Given the description of an element on the screen output the (x, y) to click on. 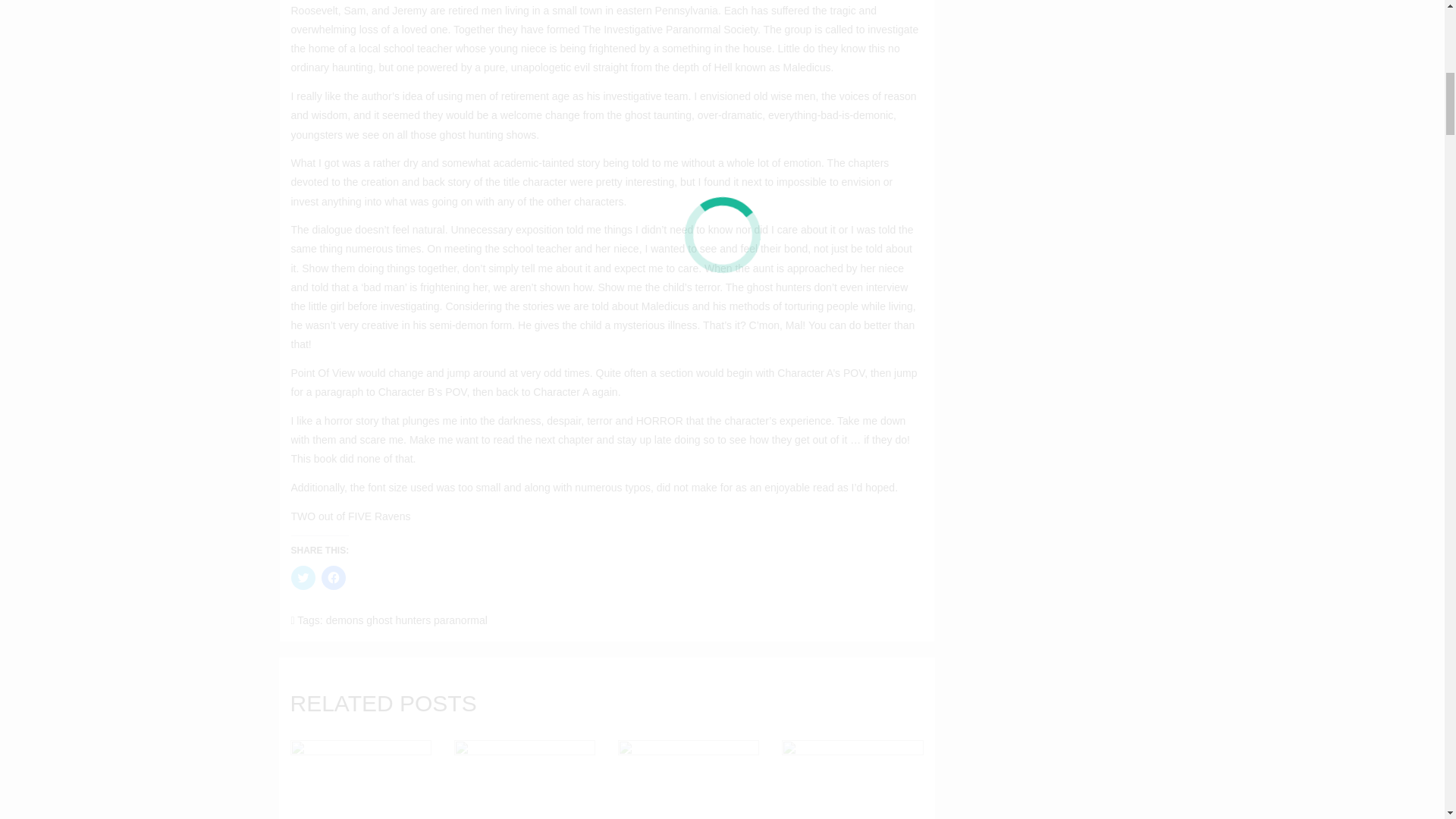
ghost hunters (398, 620)
demons (345, 620)
